Given the description of an element on the screen output the (x, y) to click on. 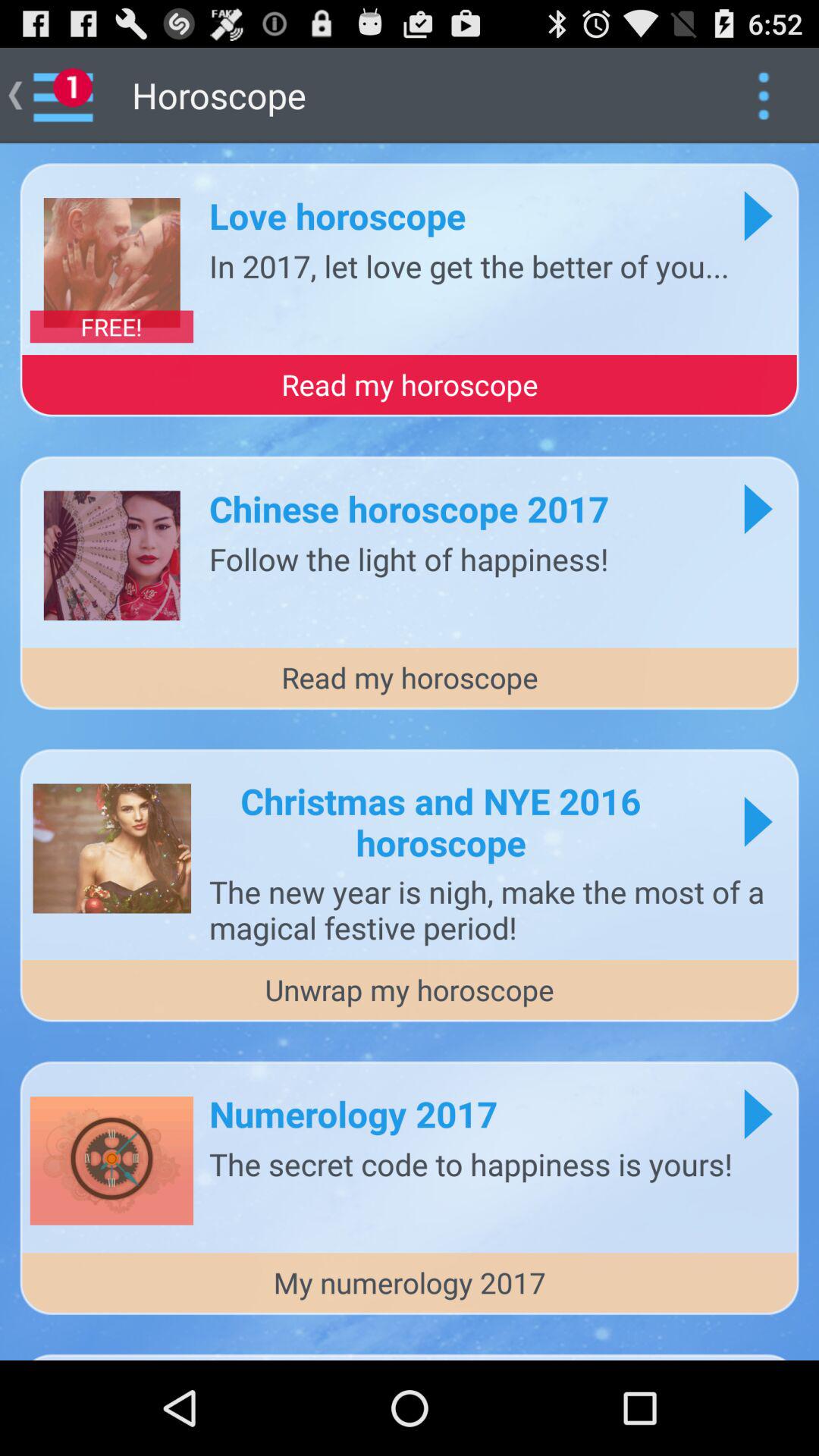
click on the icon right next to love horoscope (757, 215)
click on the button which is next to the horoscope (763, 95)
click on the last image from top (111, 1160)
